Given the description of an element on the screen output the (x, y) to click on. 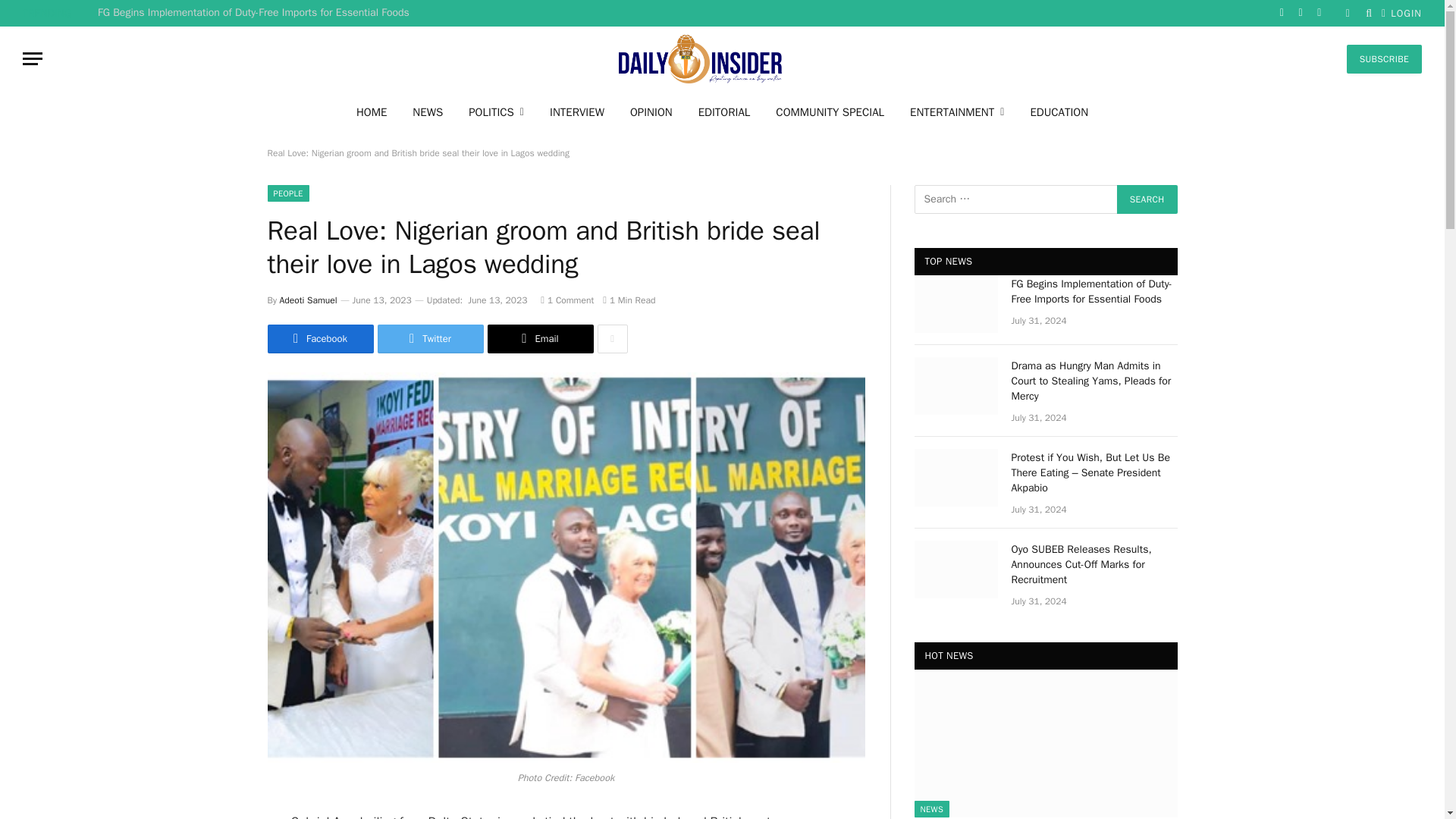
Switch to Dark Design - easier on eyes. (1347, 12)
NEWS (426, 111)
POLITICS (496, 111)
Search (1146, 199)
LOGIN (1401, 13)
SUBSCRIBE (1384, 58)
HOME (370, 111)
Search (1146, 199)
